Given the description of an element on the screen output the (x, y) to click on. 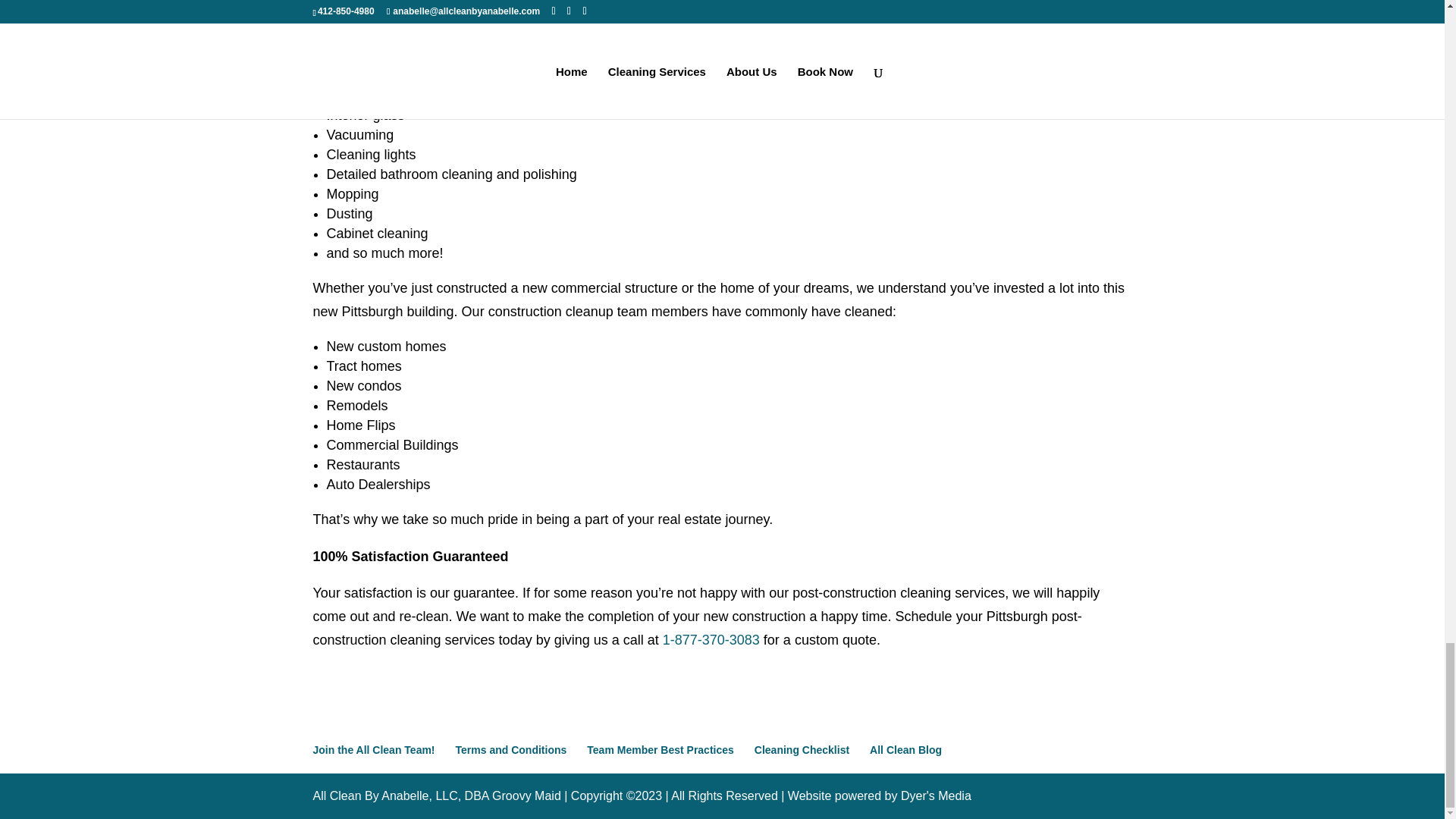
All Clean Blog (905, 749)
Cleaning Checklist (801, 749)
Team Member Best Practices (659, 749)
1-877-370-3083 (712, 639)
Join the All Clean Team! (373, 749)
Terms and Conditions (511, 749)
